Given the description of an element on the screen output the (x, y) to click on. 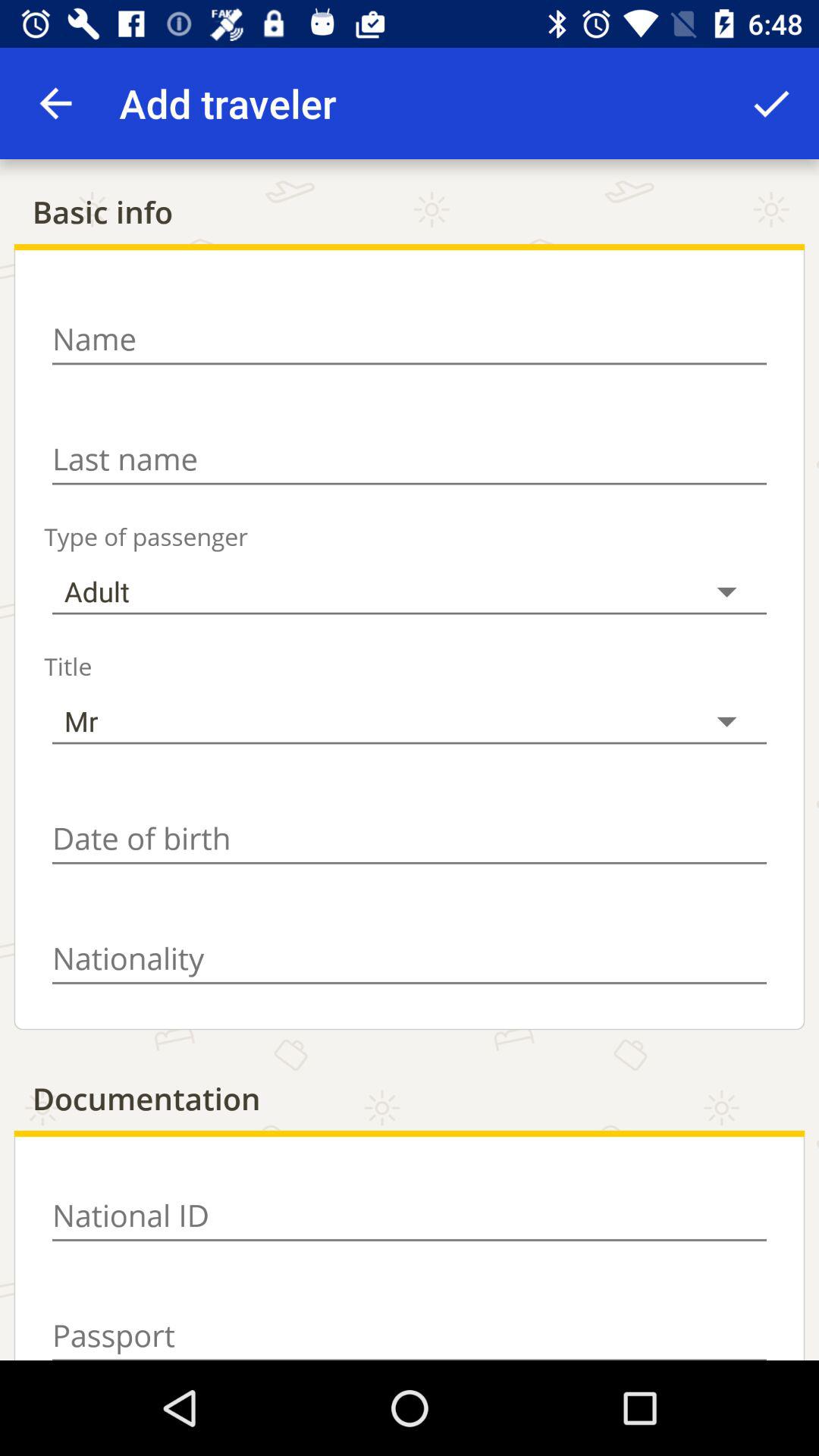
launch the app to the right of add traveler (771, 103)
